Given the description of an element on the screen output the (x, y) to click on. 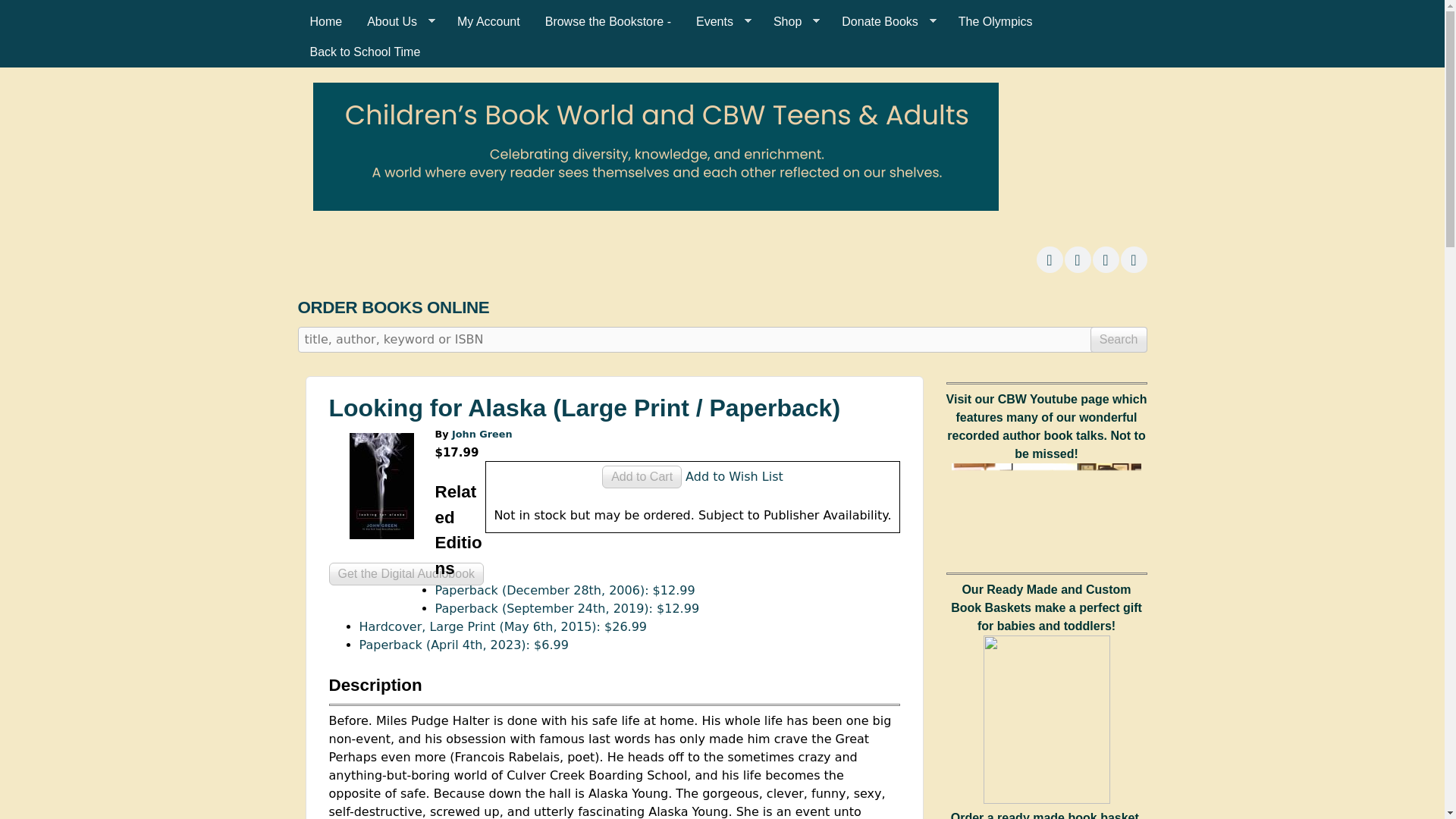
Browse the Bookstore - (607, 21)
About Children's Book World (399, 21)
Home (325, 21)
My Account (488, 21)
Add to Cart (641, 477)
Search (1118, 339)
Enter the terms you wish to search for. (722, 339)
Back to School Time (364, 51)
Home page (655, 206)
